Given the description of an element on the screen output the (x, y) to click on. 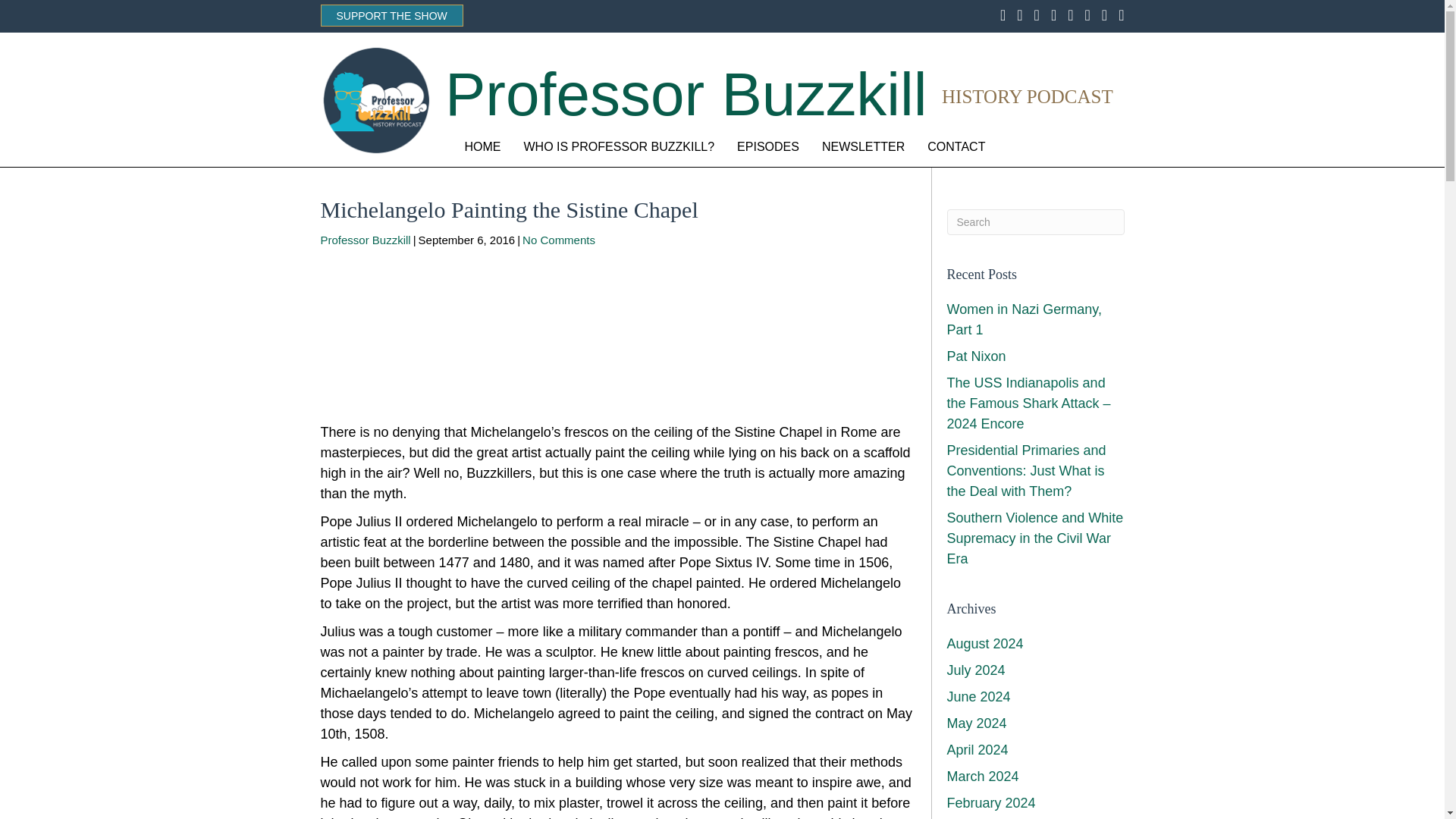
April 2024 (976, 749)
History Podcast (1027, 96)
CONTACT (955, 146)
Professor Buzzkill (365, 239)
Professor Buzzkill (686, 93)
August 2024 (984, 643)
professor buzzkill-circle-logo (374, 100)
SUPPORT THE SHOW (391, 15)
March 2024 (981, 776)
Type and press Enter to search. (1035, 222)
